Given the description of an element on the screen output the (x, y) to click on. 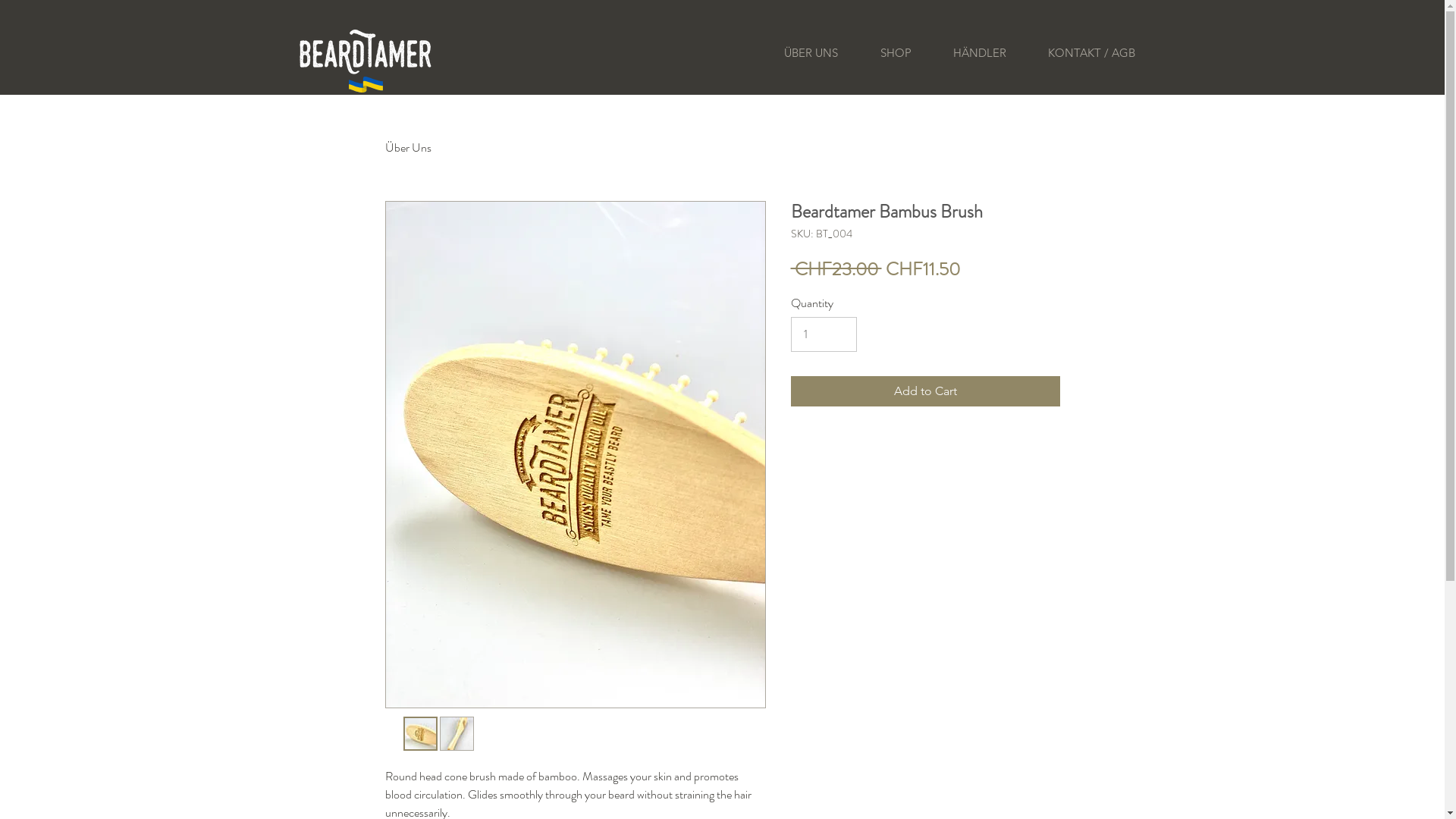
SHOP Element type: text (894, 52)
Add to Cart Element type: text (924, 391)
KONTAKT / AGB Element type: text (1090, 52)
